Given the description of an element on the screen output the (x, y) to click on. 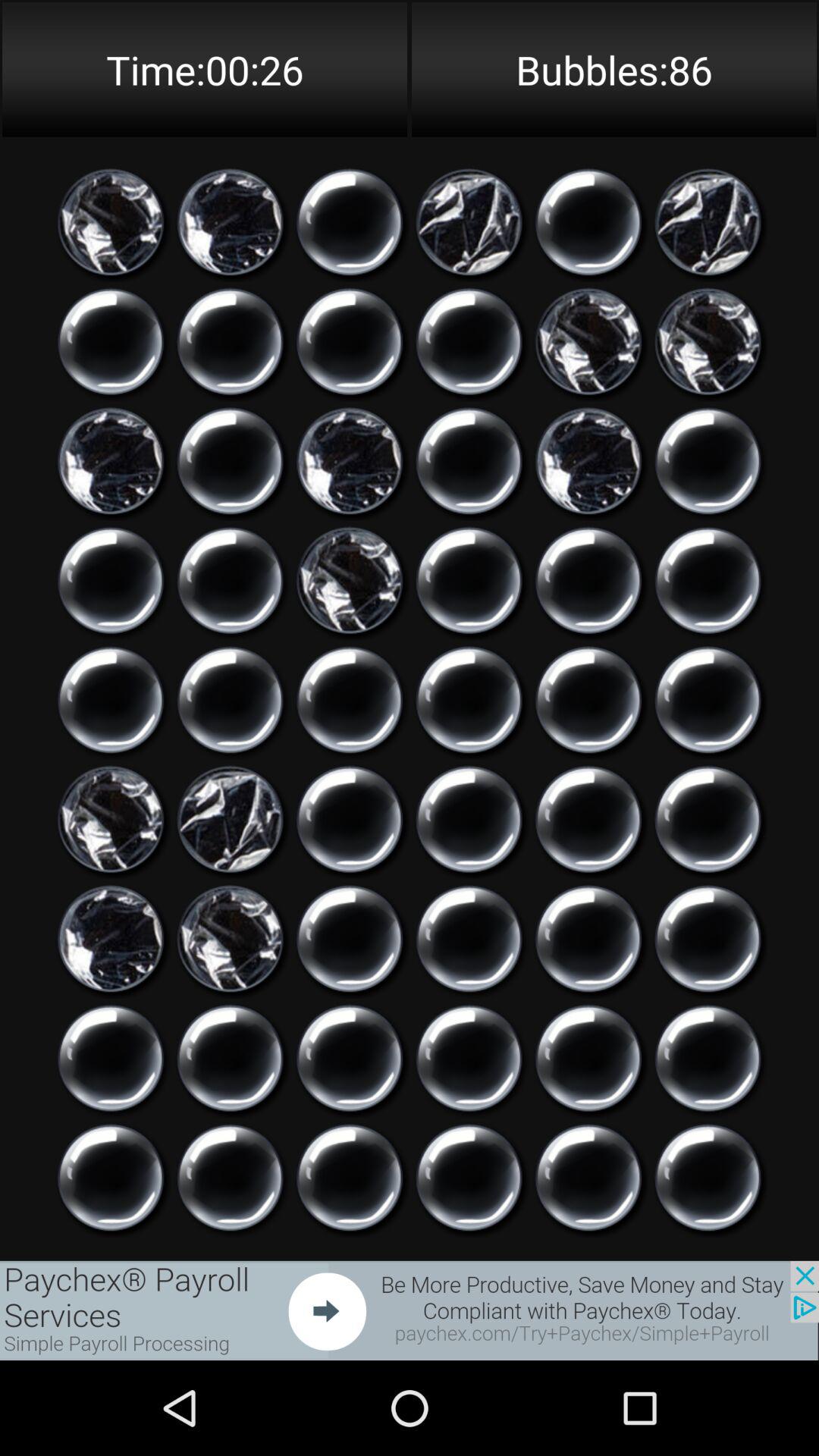
click on icon (468, 1058)
